Given the description of an element on the screen output the (x, y) to click on. 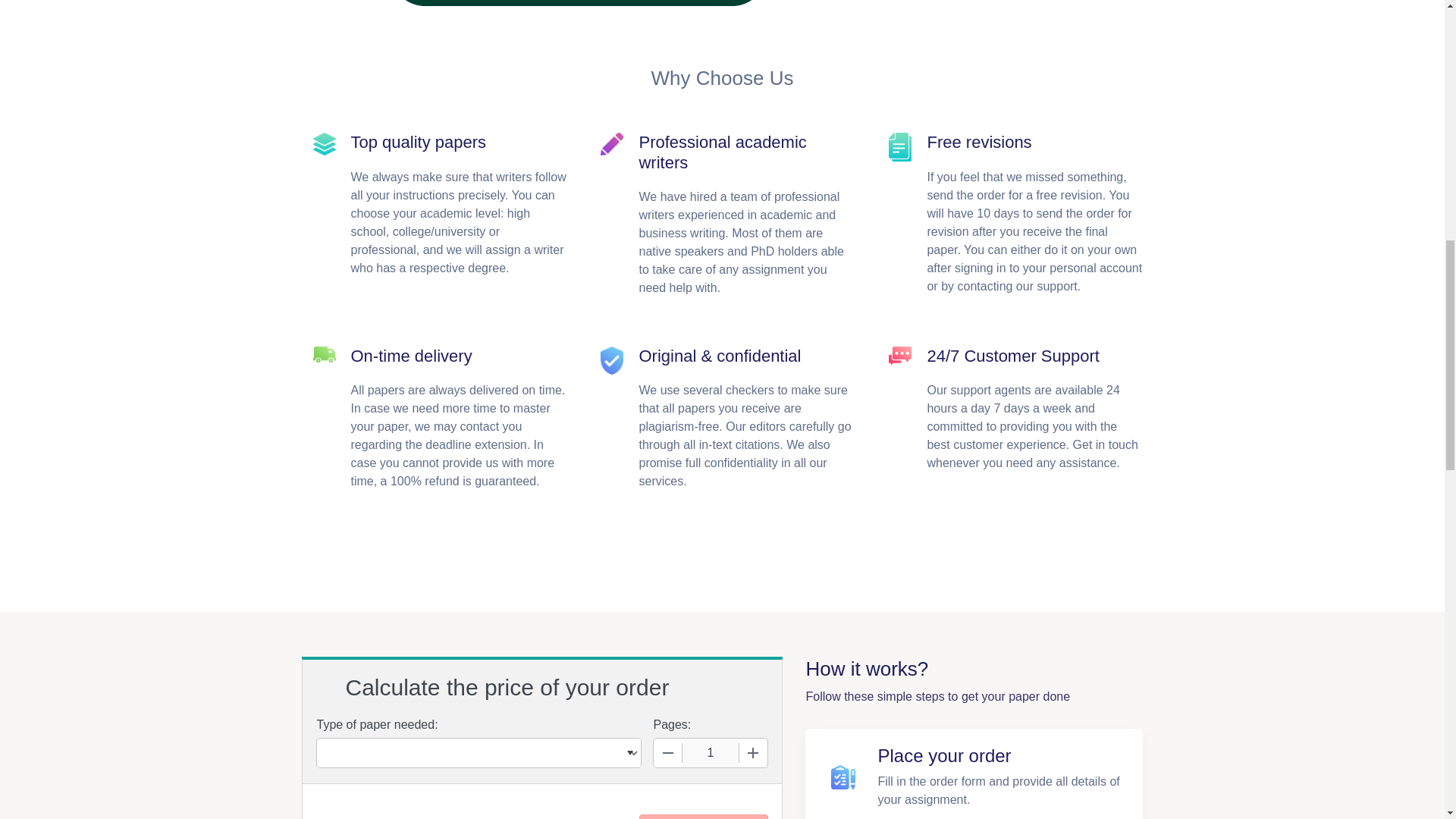
1 (710, 752)
Continue to order (703, 816)
Increase (752, 752)
Continue to order (703, 816)
Decrease (667, 752)
Continue to Order (703, 816)
